Given the description of an element on the screen output the (x, y) to click on. 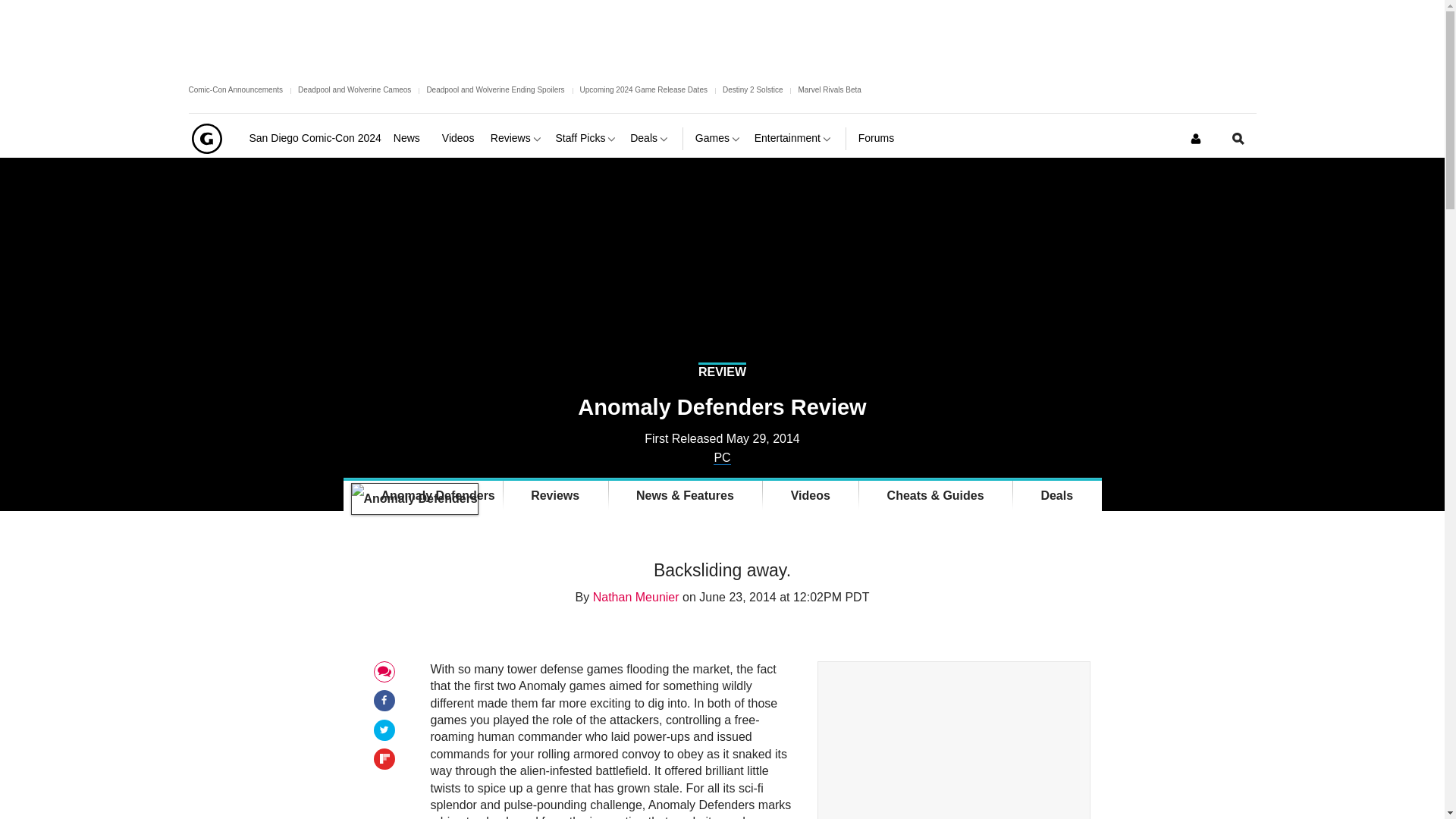
Deadpool and Wolverine Cameos (354, 89)
Comment (384, 672)
Deadpool and Wolverine Ending Spoilers (495, 89)
News (411, 138)
Comic-Con Announcements (234, 89)
Reviews (516, 138)
Videos (460, 138)
San Diego Comic-Con 2024 (314, 138)
Flipboard (384, 758)
GameSpot (205, 138)
Facebook (384, 699)
Games (718, 138)
Twitter (384, 729)
Staff Picks (587, 138)
